Given the description of an element on the screen output the (x, y) to click on. 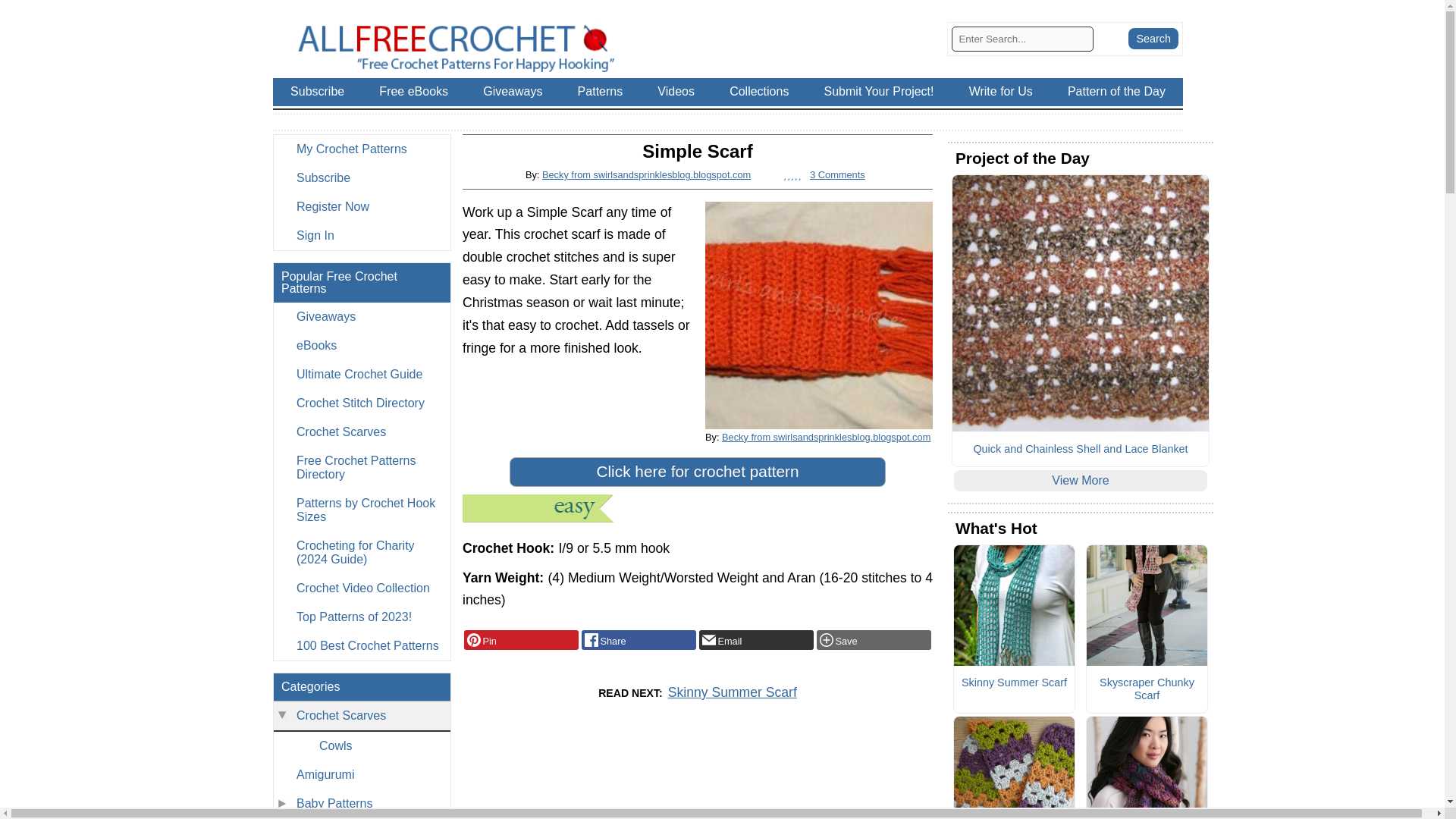
Subscribe (361, 177)
Insticator Content Engagement Unit (698, 777)
Facebook (637, 639)
Sign In (361, 235)
My Crochet Patterns (361, 149)
Add (873, 639)
Search (1152, 38)
Register Now (361, 206)
Email (755, 639)
